Given the description of an element on the screen output the (x, y) to click on. 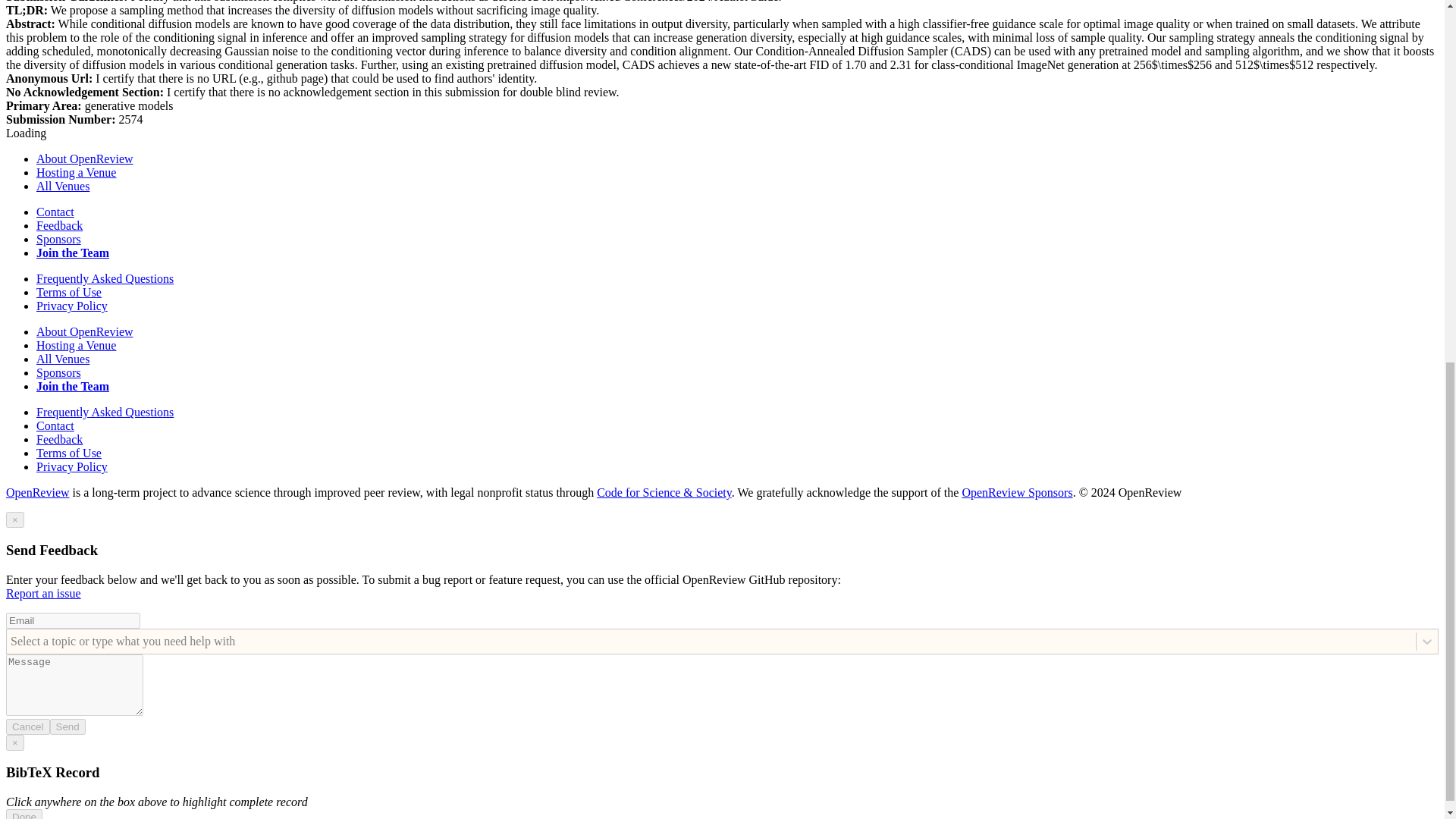
Hosting a Venue (76, 172)
Contact (55, 211)
Join the Team (72, 252)
Sponsors (58, 238)
Frequently Asked Questions (104, 411)
All Venues (62, 185)
Feedback (59, 225)
Join the Team (72, 386)
Frequently Asked Questions (104, 278)
OpenReview (37, 492)
Terms of Use (68, 291)
About OpenReview (84, 331)
Cancel (27, 726)
Privacy Policy (71, 466)
Terms of Use (68, 452)
